Given the description of an element on the screen output the (x, y) to click on. 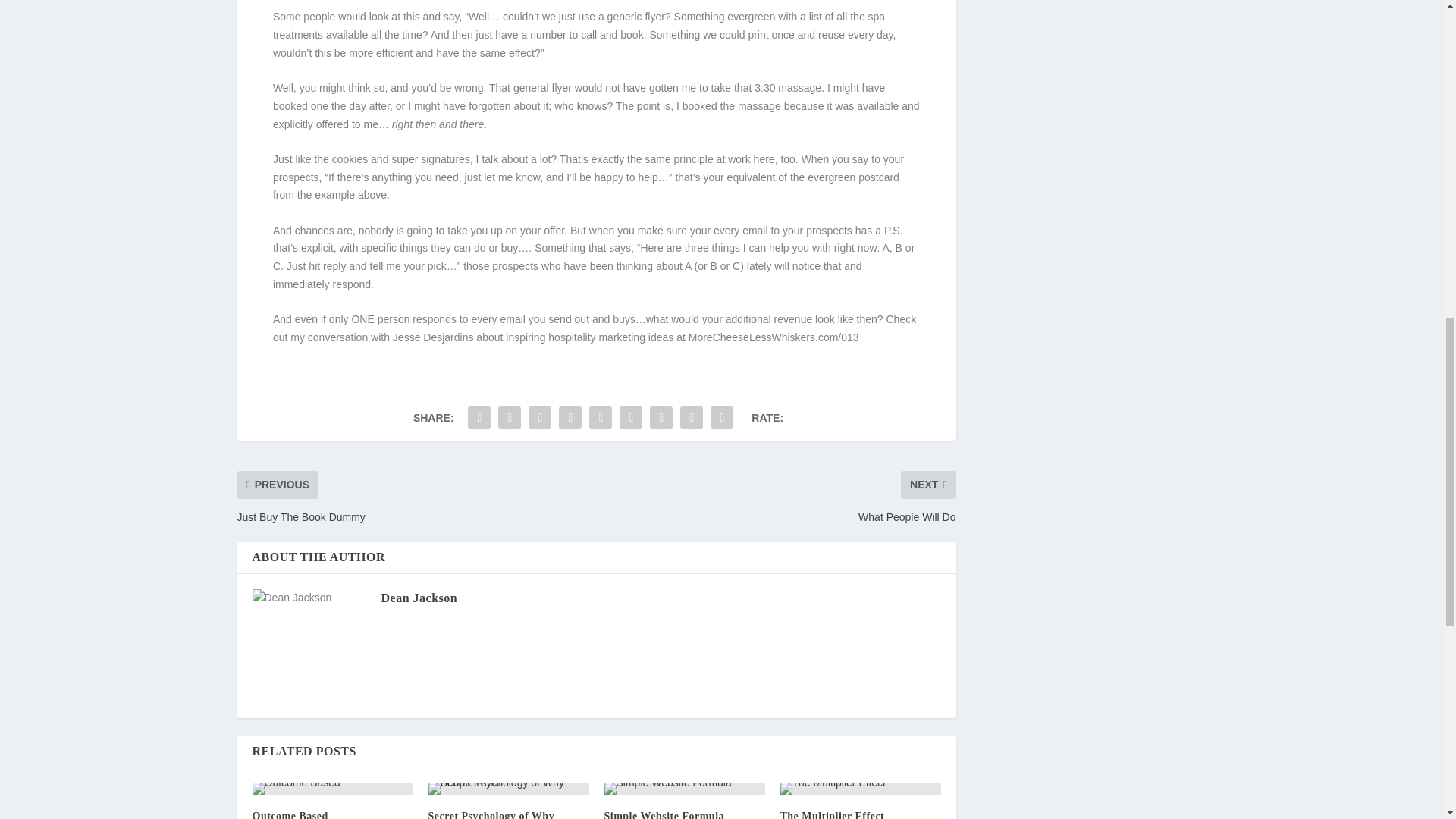
Share "When Marketing Works on YOU" via LinkedIn (600, 417)
Share "When Marketing Works on YOU" via Pinterest (569, 417)
Share "When Marketing Works on YOU" via Tumblr (539, 417)
Share "When Marketing Works on YOU" via Email (691, 417)
Share "When Marketing Works on YOU" via Stumbleupon (661, 417)
Share "When Marketing Works on YOU" via Facebook (479, 417)
Share "When Marketing Works on YOU" via Buffer (630, 417)
Simple Website Formula (663, 814)
Dean Jackson (418, 597)
Share "When Marketing Works on YOU" via Twitter (509, 417)
